Given the description of an element on the screen output the (x, y) to click on. 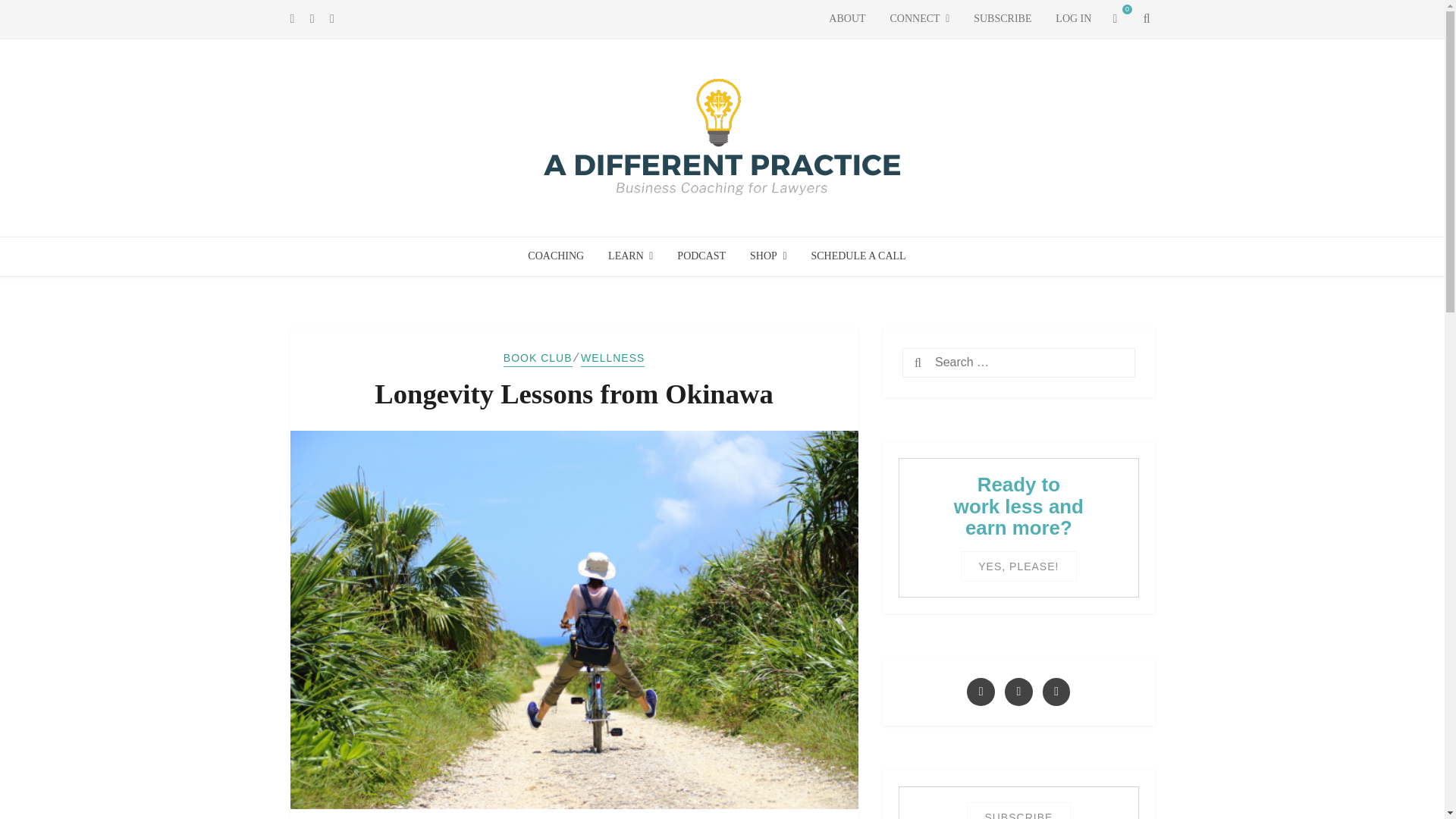
SUBSCRIBE (1002, 19)
Search (944, 363)
ABOUT (847, 19)
LOG IN (1073, 19)
Search (944, 363)
CONNECT (919, 19)
